Given the description of an element on the screen output the (x, y) to click on. 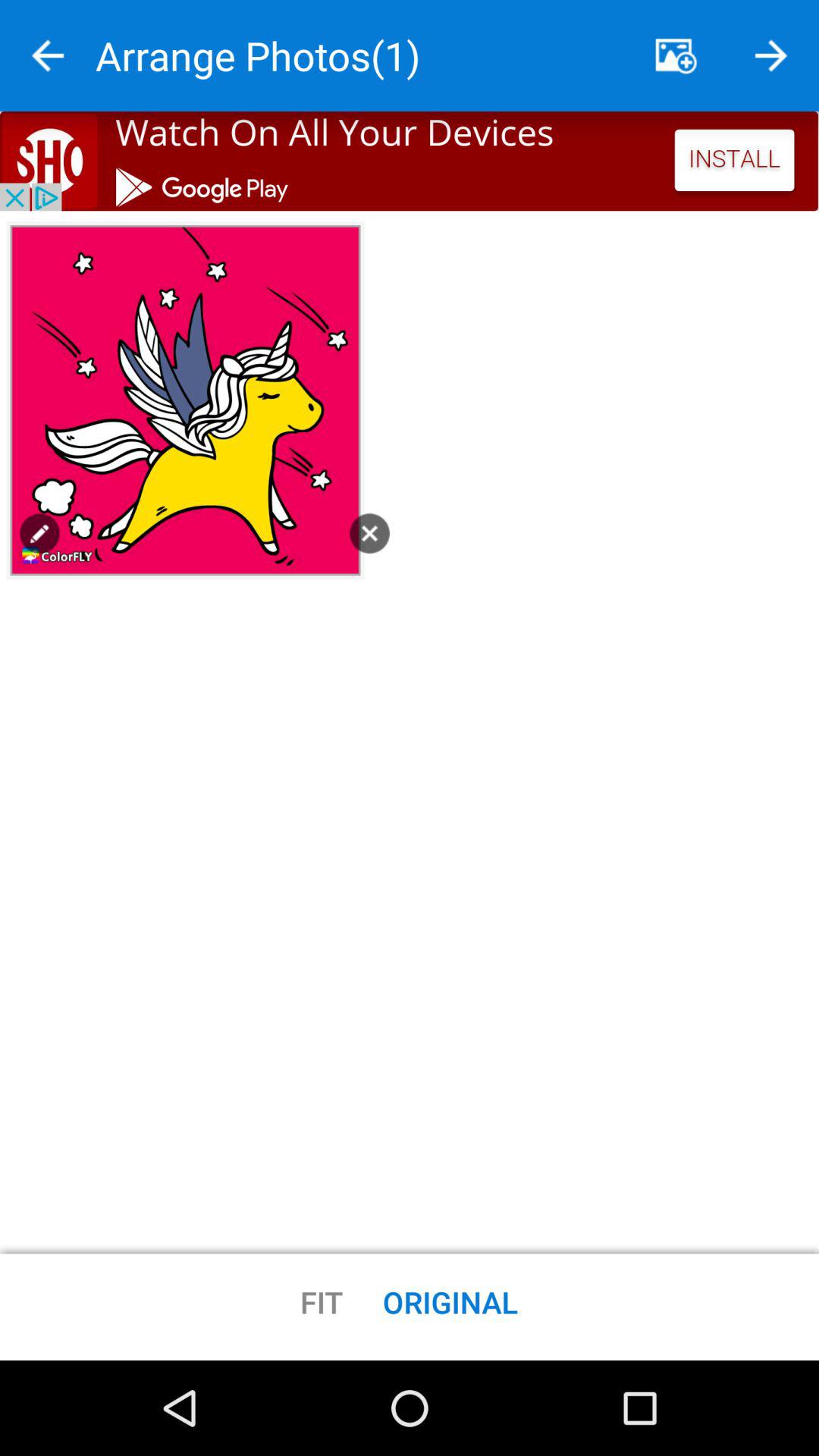
go back (47, 55)
